Given the description of an element on the screen output the (x, y) to click on. 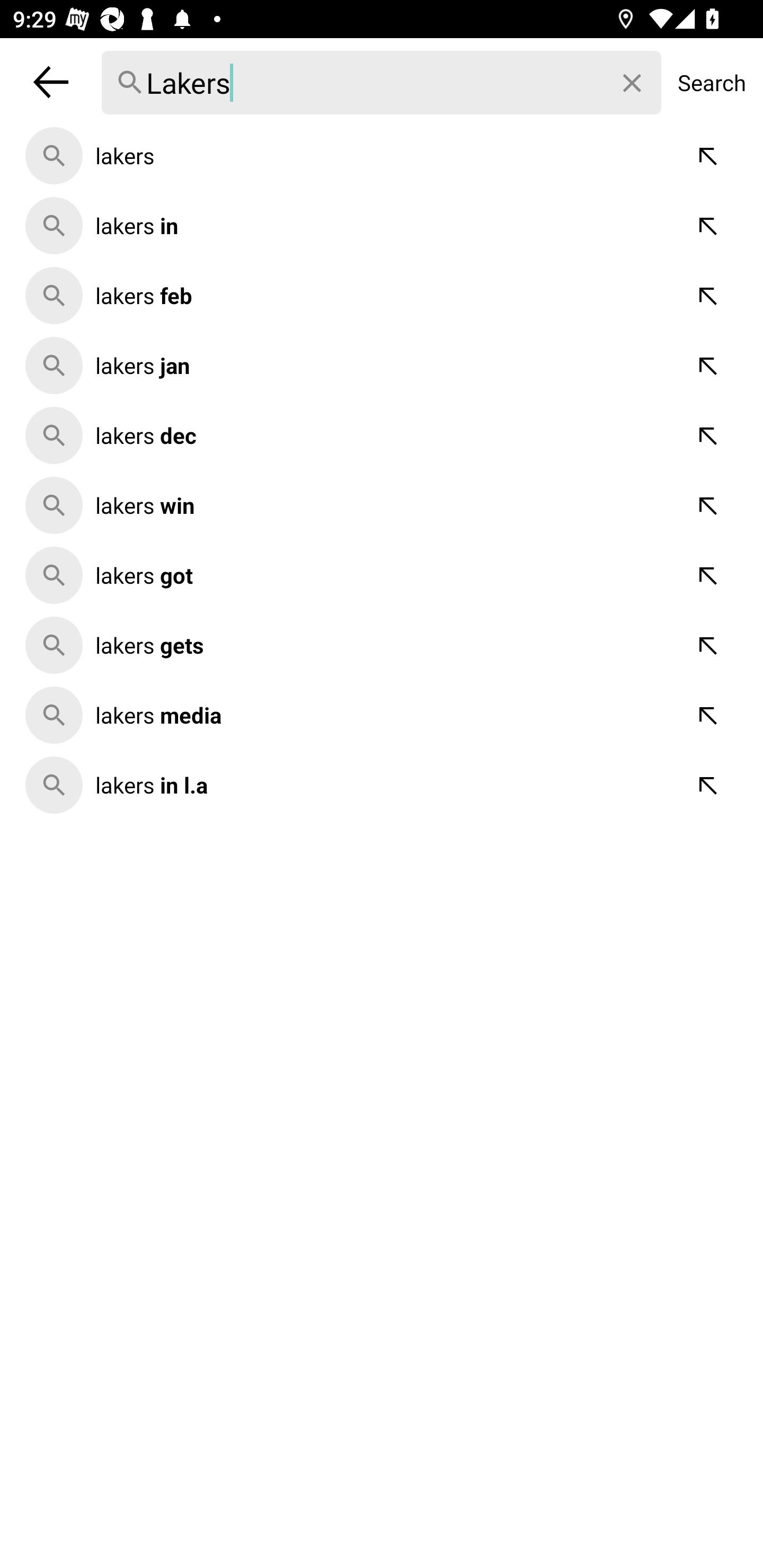
close (50, 81)
search Lakers clear (381, 82)
Lakers (381, 82)
clear (632, 82)
Search (711, 82)
search lakers Fill in lakers (381, 156)
Fill in lakers (708, 156)
search lakers in Fill in lakers in (381, 225)
Fill in lakers in (708, 225)
search lakers feb Fill in lakers feb (381, 295)
Fill in lakers feb (708, 295)
search lakers jan Fill in lakers jan (381, 365)
Fill in lakers jan (708, 365)
search lakers dec Fill in lakers dec (381, 435)
Fill in lakers dec (708, 435)
search lakers win Fill in lakers win (381, 505)
Fill in lakers win (708, 505)
search lakers got Fill in lakers got (381, 575)
Fill in lakers got (708, 575)
search lakers gets Fill in lakers gets (381, 645)
Fill in lakers gets (708, 645)
search lakers media Fill in lakers media (381, 714)
Fill in lakers media (708, 714)
search lakers in l.a Fill in lakers in l.a (381, 784)
Fill in lakers in l.a (708, 784)
